Given the description of an element on the screen output the (x, y) to click on. 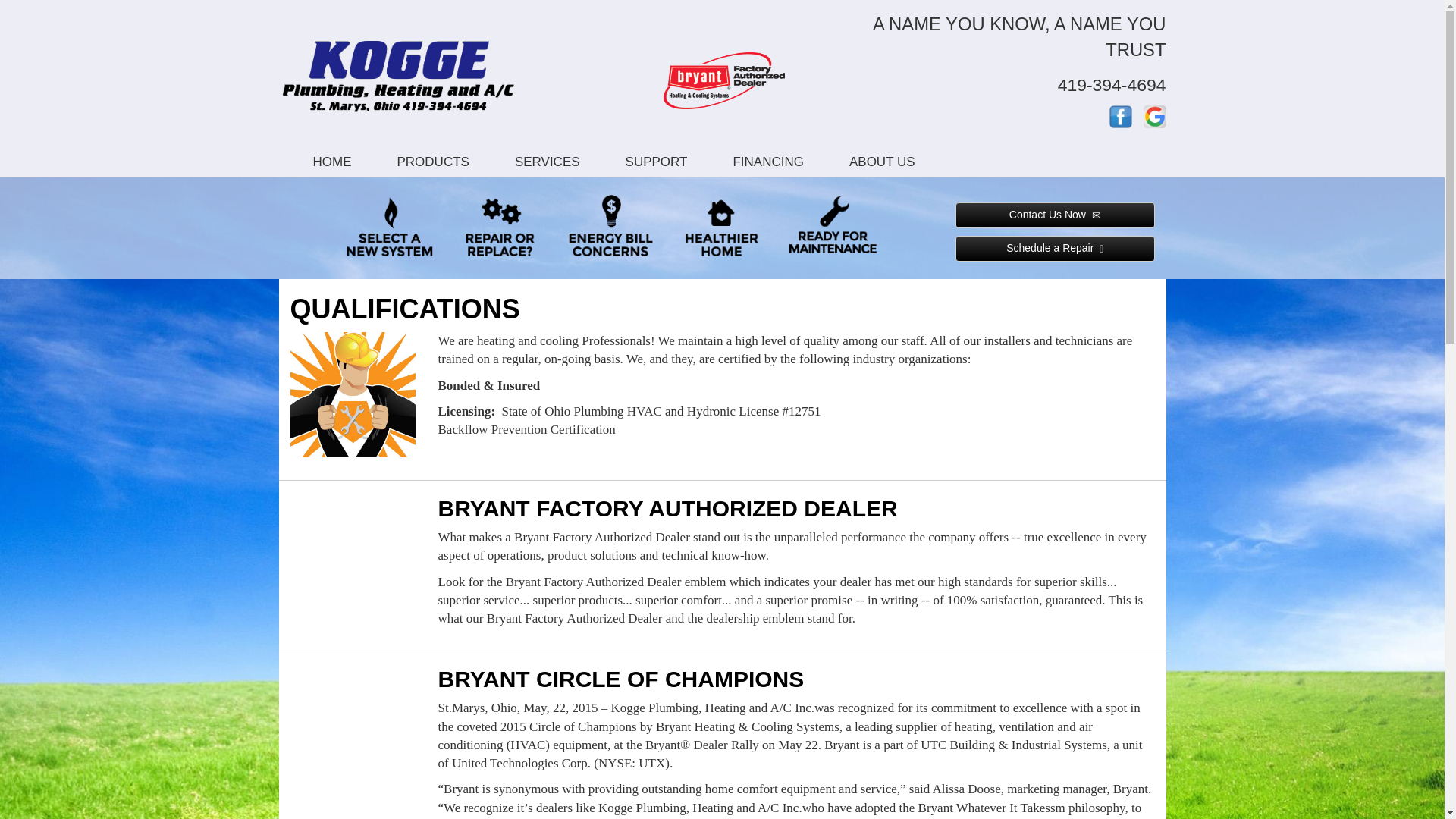
HOME (331, 160)
PRODUCTS (433, 160)
ABOUT US (882, 160)
SERVICES (547, 160)
419-394-4694 (1112, 85)
FINANCING (768, 160)
SUPPORT (656, 160)
